Given the description of an element on the screen output the (x, y) to click on. 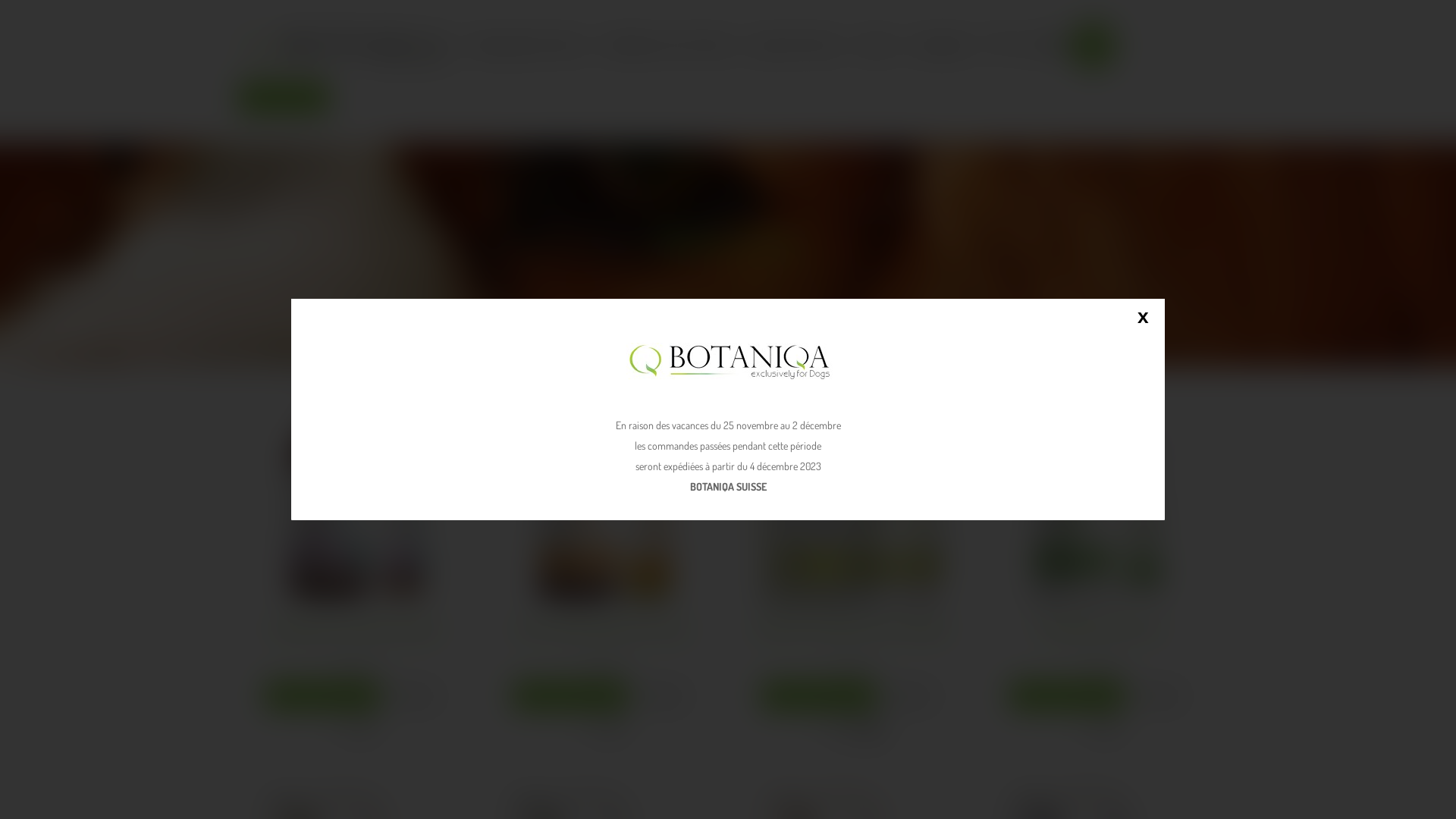
INTENSE TREATMENT COAT MASK Element type: hover (852, 498)
INTENSE TREATMENT COAT MASQUE Element type: hover (852, 498)
1L Element type: hover (365, 729)
DEEP CONDITIONING COAT OIL Element type: hover (603, 498)
Voir mon panier Element type: hover (1093, 45)
INTENSE TREATMENT COAT MASQUE Element type: text (851, 630)
Shampoing Pour Chiens Element type: text (525, 44)
1L Element type: hover (614, 729)
DE Element type: text (1030, 44)
se connecter Element type: text (283, 97)
250ml Element type: hover (830, 729)
Ajouter Au Panier Element type: text (818, 695)
4L Element type: hover (874, 729)
1L Element type: hover (852, 729)
DEEP CONDITIONING COAT HUILE Element type: hover (603, 498)
250ml Element type: hover (592, 729)
250ml Element type: hover (343, 729)
BOTANIQA SCHWEIZ Element type: hover (344, 49)
DETANGLING COAT LAIT Element type: text (1100, 630)
Ajouter Au Panier Element type: text (570, 695)
Ajouter Au Panier Element type: text (1066, 695)
DEEP CONDITIONING COAT HUILE Element type: text (603, 630)
1L Element type: hover (1111, 729)
Conditionneur Pour Chiens Element type: text (668, 44)
Ajouter Au Panier Element type: text (322, 695)
250ml Element type: hover (1089, 729)
Contact Element type: text (876, 44)
Spray Pour Chiens Element type: text (796, 44)
x Element type: text (1142, 317)
DETANGLING COAT MILK Element type: hover (1100, 498)
REGENERATE BOOSTING SERUM Element type: hover (355, 498)
DETANGLING COAT LAIT Element type: hover (1100, 498)
